Given the description of an element on the screen output the (x, y) to click on. 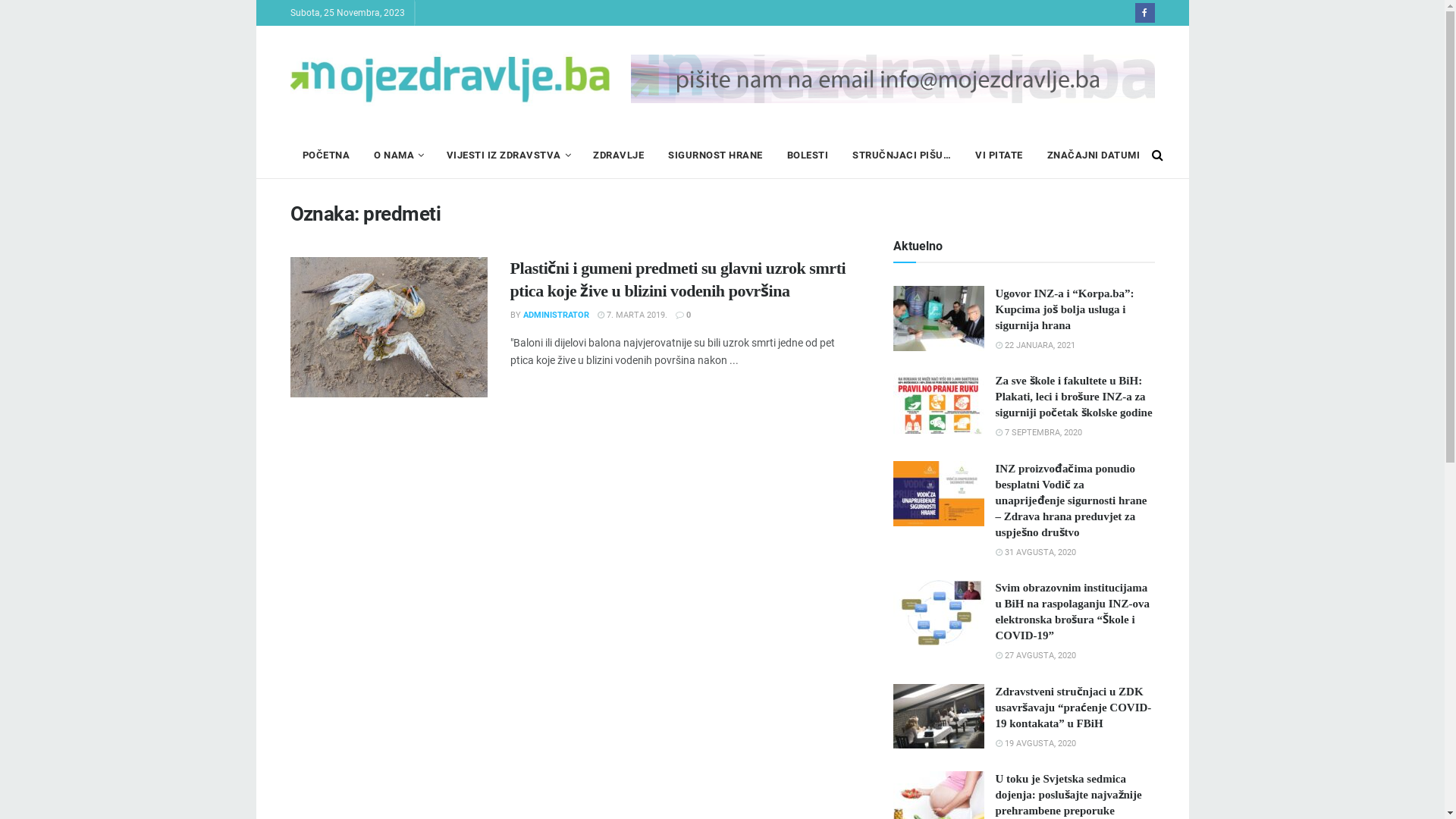
7. MARTA 2019. Element type: text (632, 315)
22 JANUARA, 2021 Element type: text (1034, 345)
0 Element type: text (682, 315)
27 AVGUSTA, 2020 Element type: text (1034, 655)
ADMINISTRATOR Element type: text (556, 315)
19 AVGUSTA, 2020 Element type: text (1034, 743)
SIGURNOST HRANE Element type: text (715, 154)
31 AVGUSTA, 2020 Element type: text (1034, 552)
7 SEPTEMBRA, 2020 Element type: text (1037, 432)
VIJESTI IZ ZDRAVSTVA Element type: text (506, 154)
BOLESTI Element type: text (807, 154)
VI PITATE Element type: text (999, 154)
O NAMA Element type: text (397, 154)
ZDRAVLJE Element type: text (617, 154)
